Given the description of an element on the screen output the (x, y) to click on. 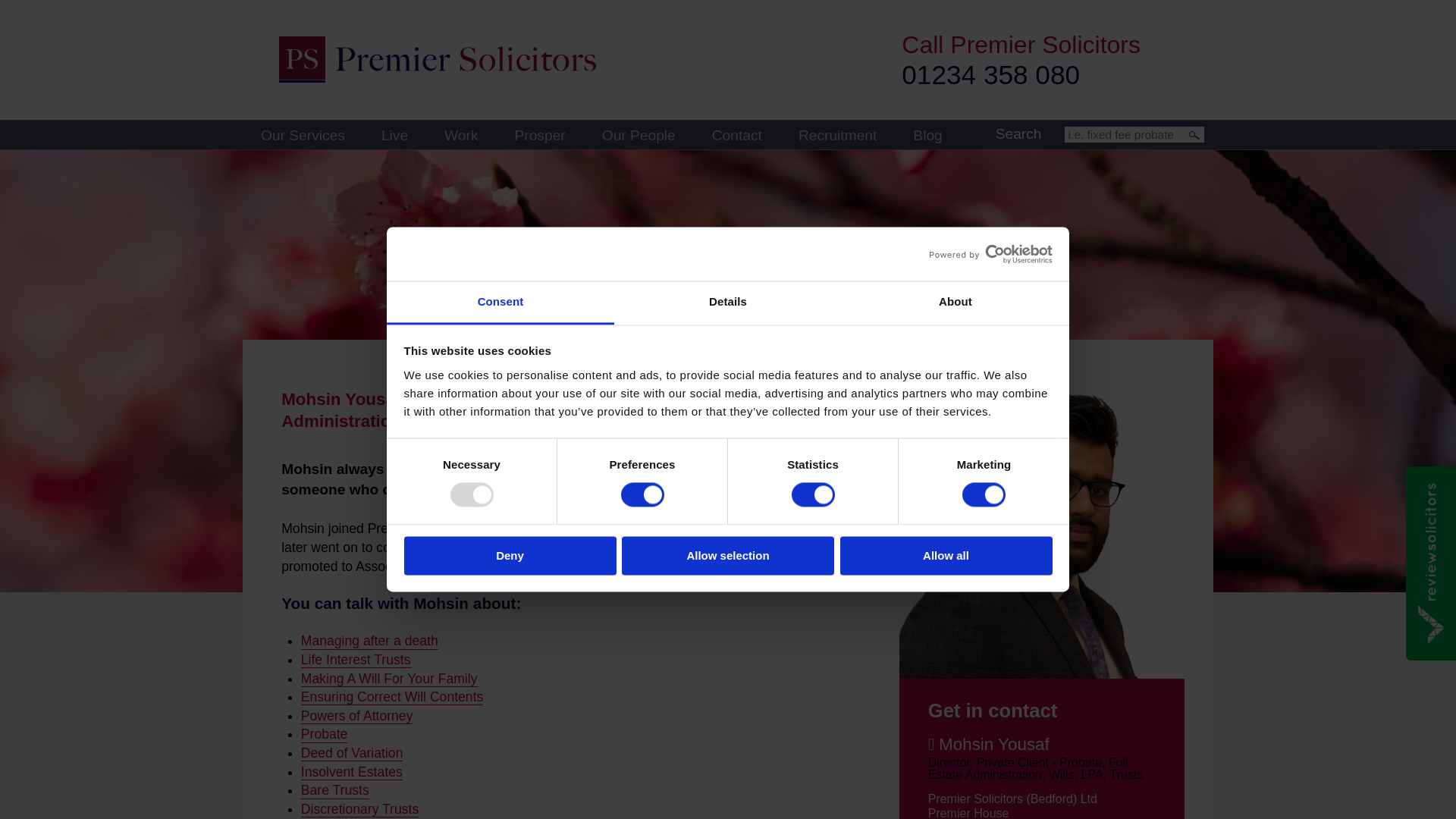
Allow selection (727, 555)
Ensuring Correct Will Contents (392, 697)
About (954, 302)
Allow all (946, 555)
Making A Will For Your Family (389, 678)
Consent (500, 302)
01234 358 080 (990, 74)
Details (727, 302)
Managing after a death (369, 641)
Deny (509, 555)
Life Interest Trusts (355, 659)
